Given the description of an element on the screen output the (x, y) to click on. 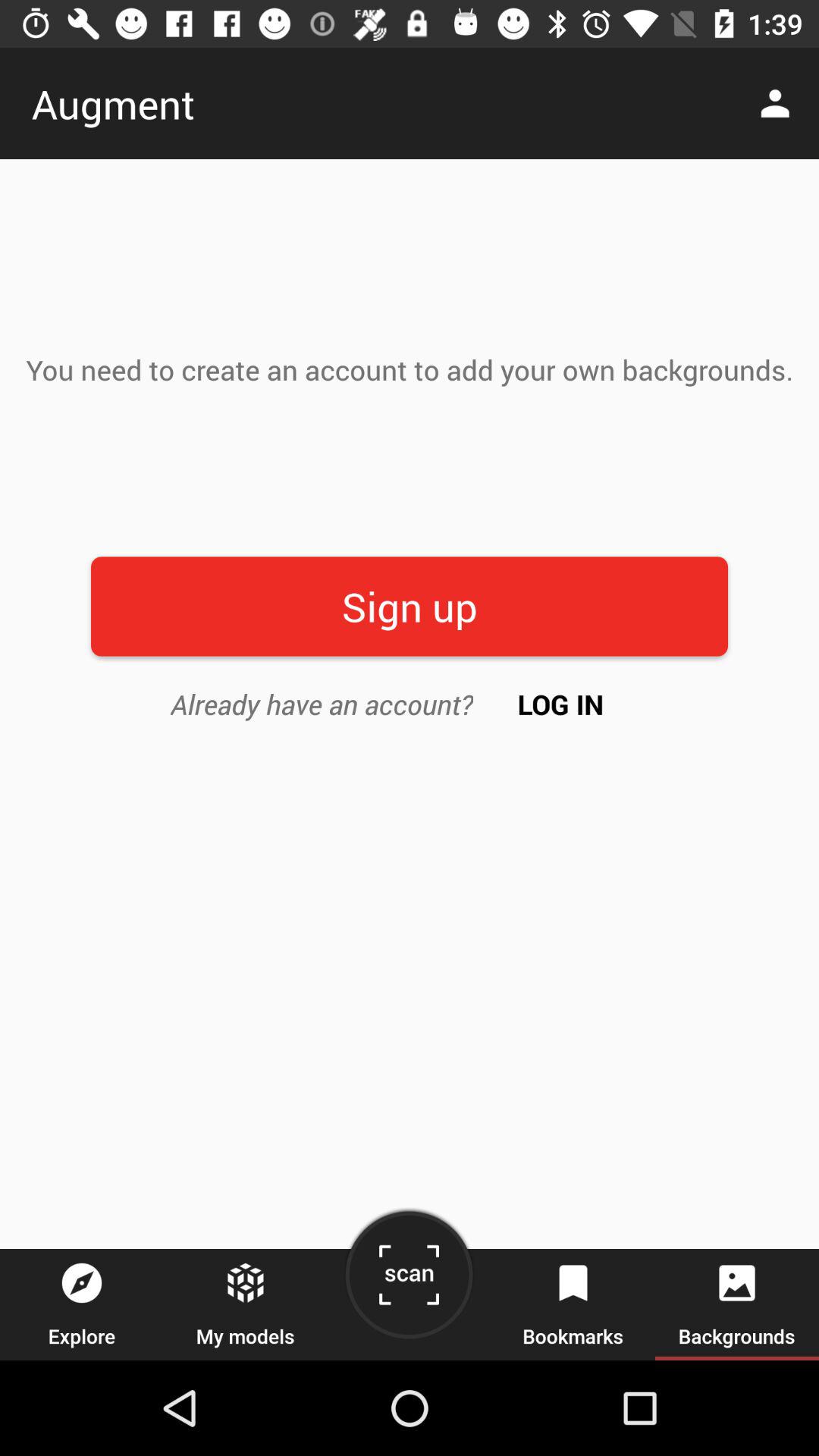
turn off log in item (560, 703)
